Given the description of an element on the screen output the (x, y) to click on. 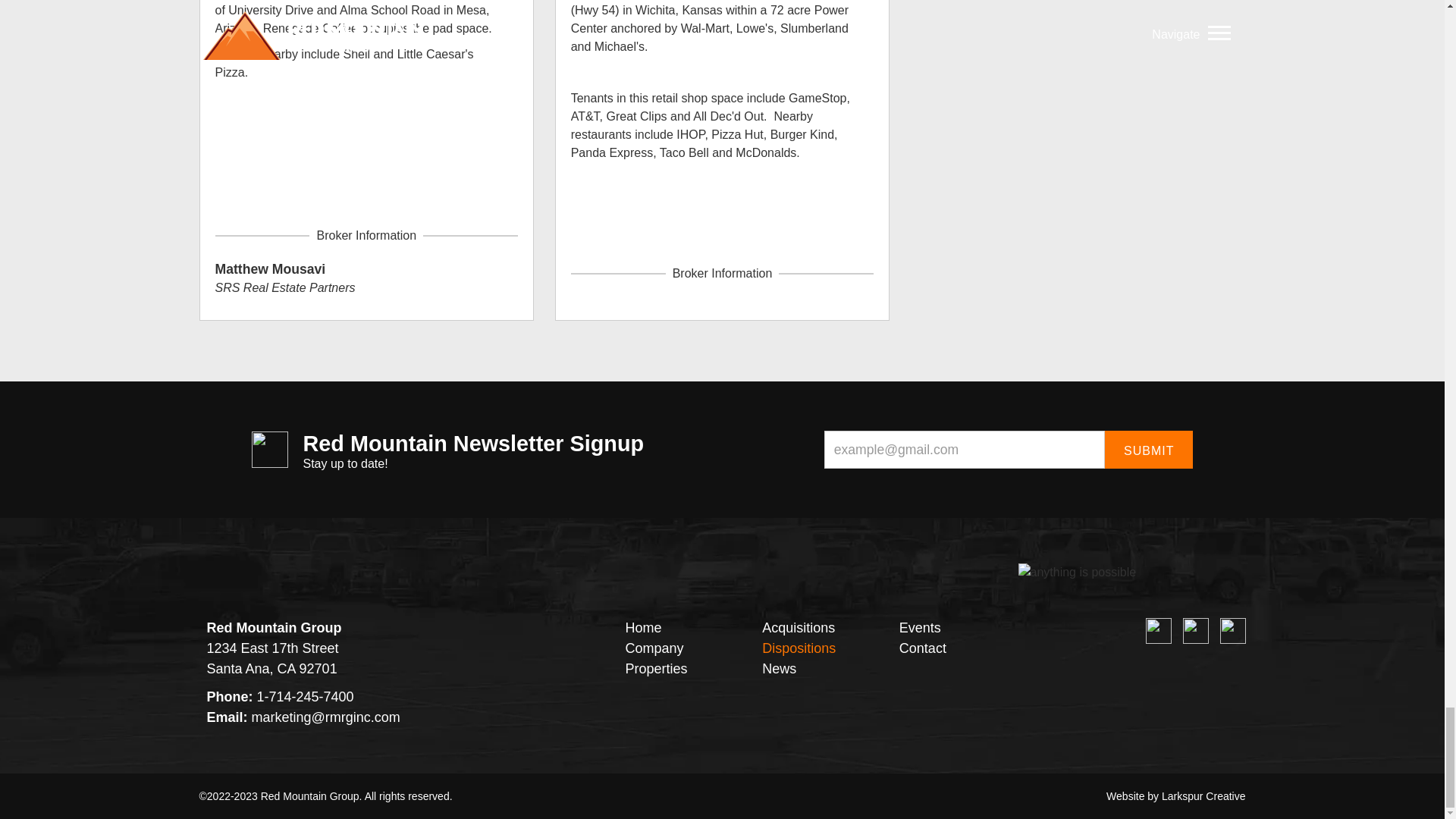
Submit (1148, 449)
